Given the description of an element on the screen output the (x, y) to click on. 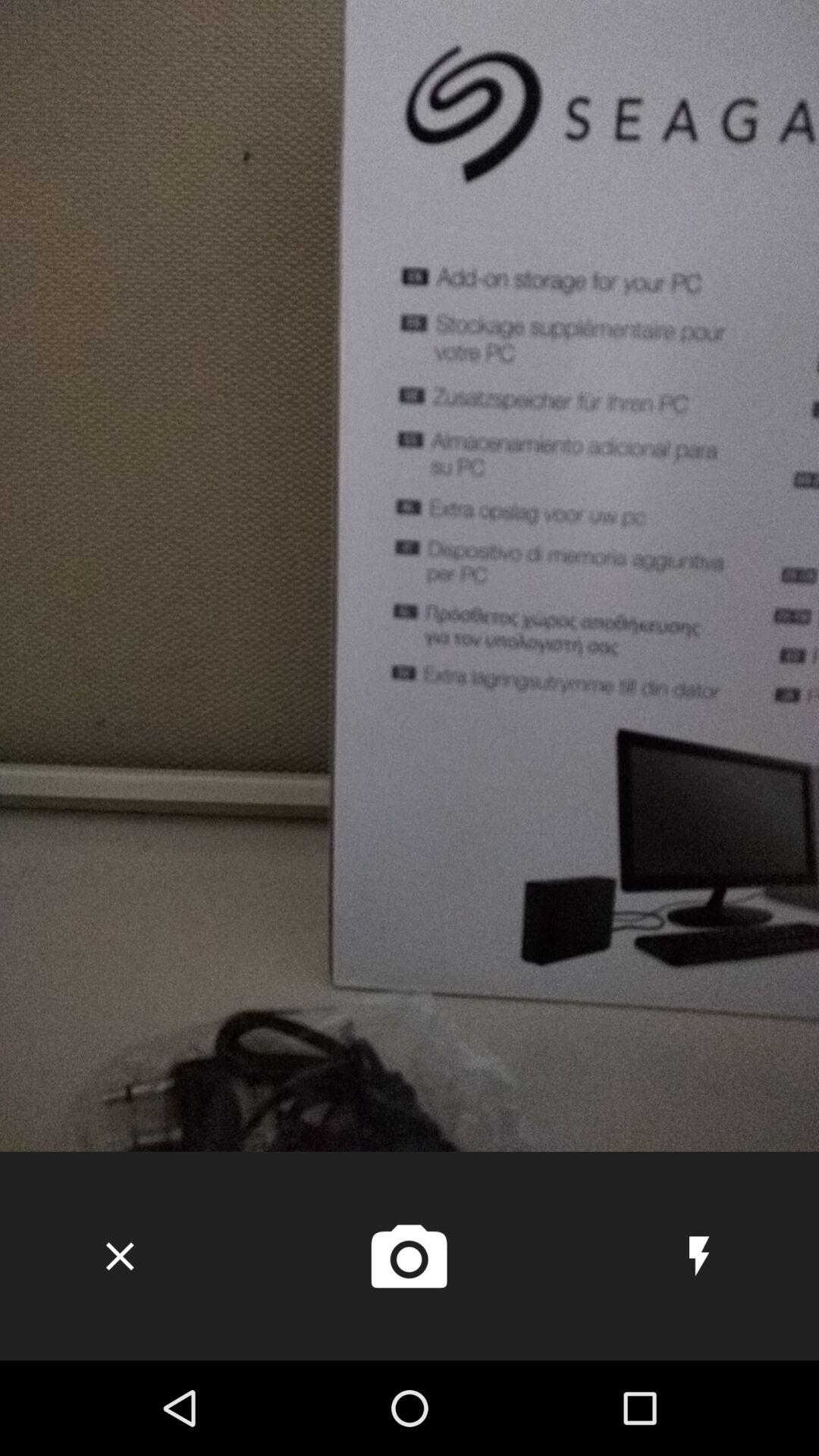
turn off the icon at the center (409, 575)
